Given the description of an element on the screen output the (x, y) to click on. 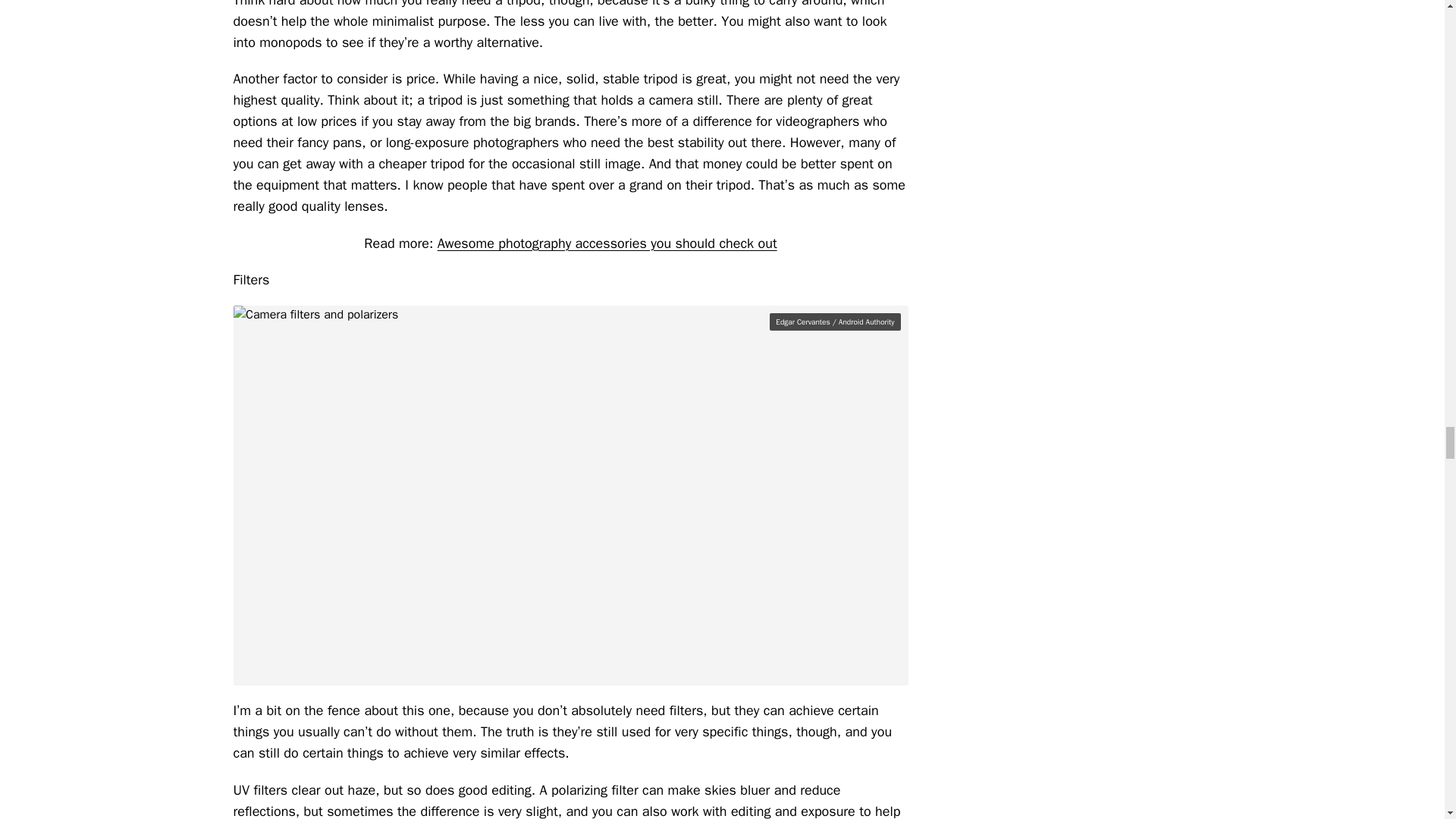
Awesome photography accessories you should check out (607, 243)
